Given the description of an element on the screen output the (x, y) to click on. 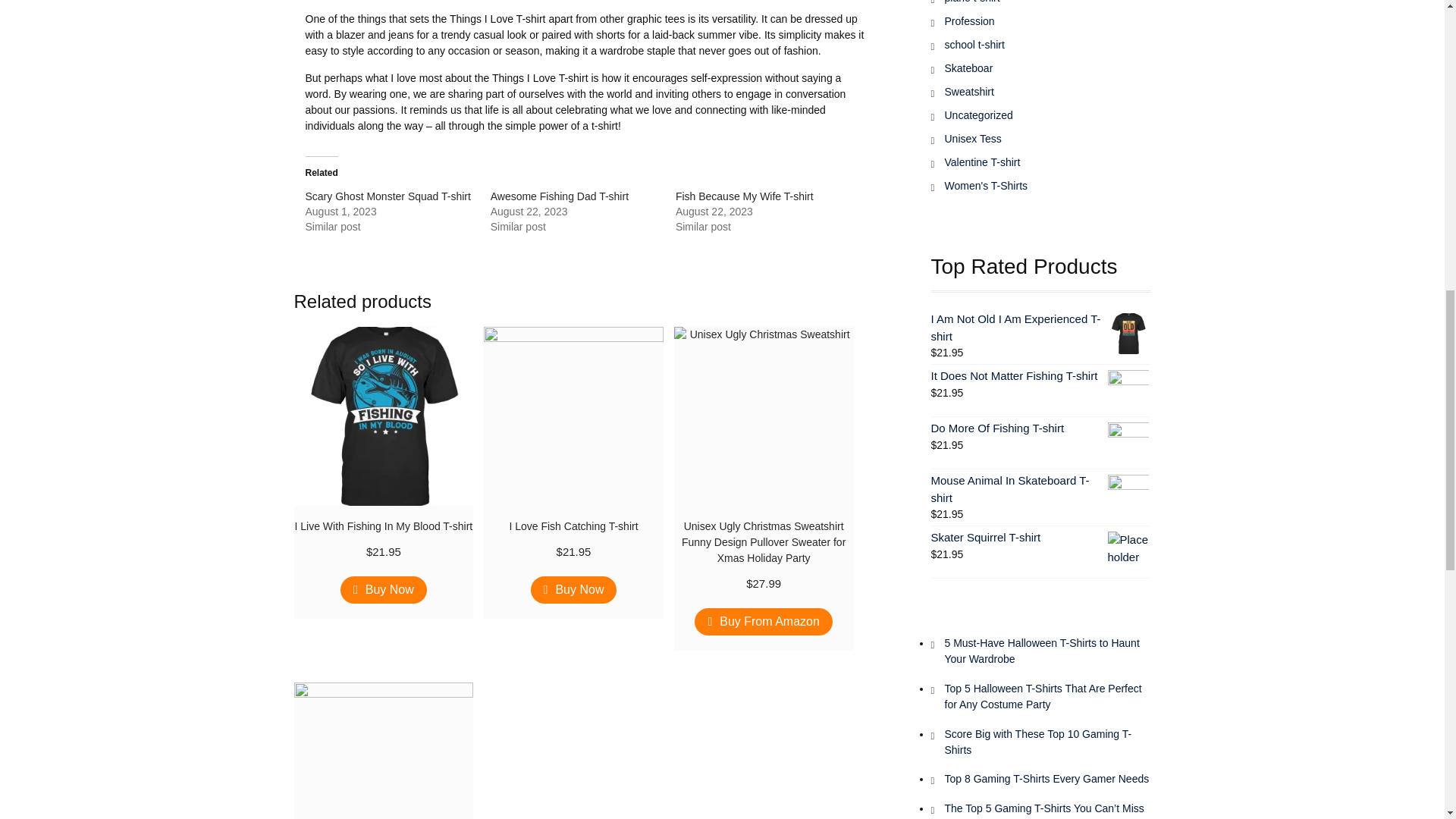
Awesome Fishing Dad T-shirt (559, 196)
Fish Because My Wife T-shirt (744, 196)
Scary Ghost Monster Squad T-shirt (387, 196)
